Given the description of an element on the screen output the (x, y) to click on. 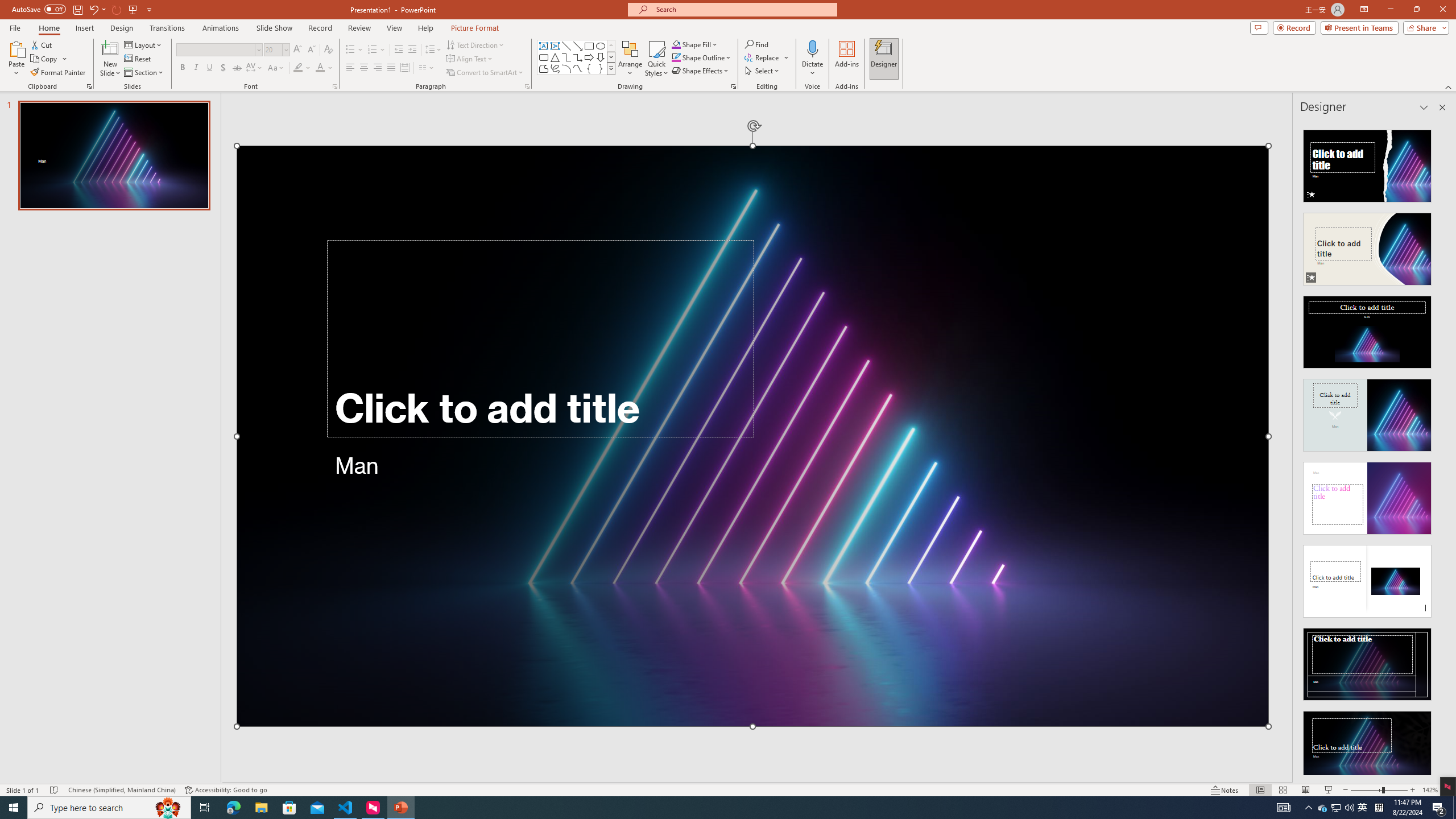
Shape Fill Orange, Accent 2 (675, 44)
